Given the description of an element on the screen output the (x, y) to click on. 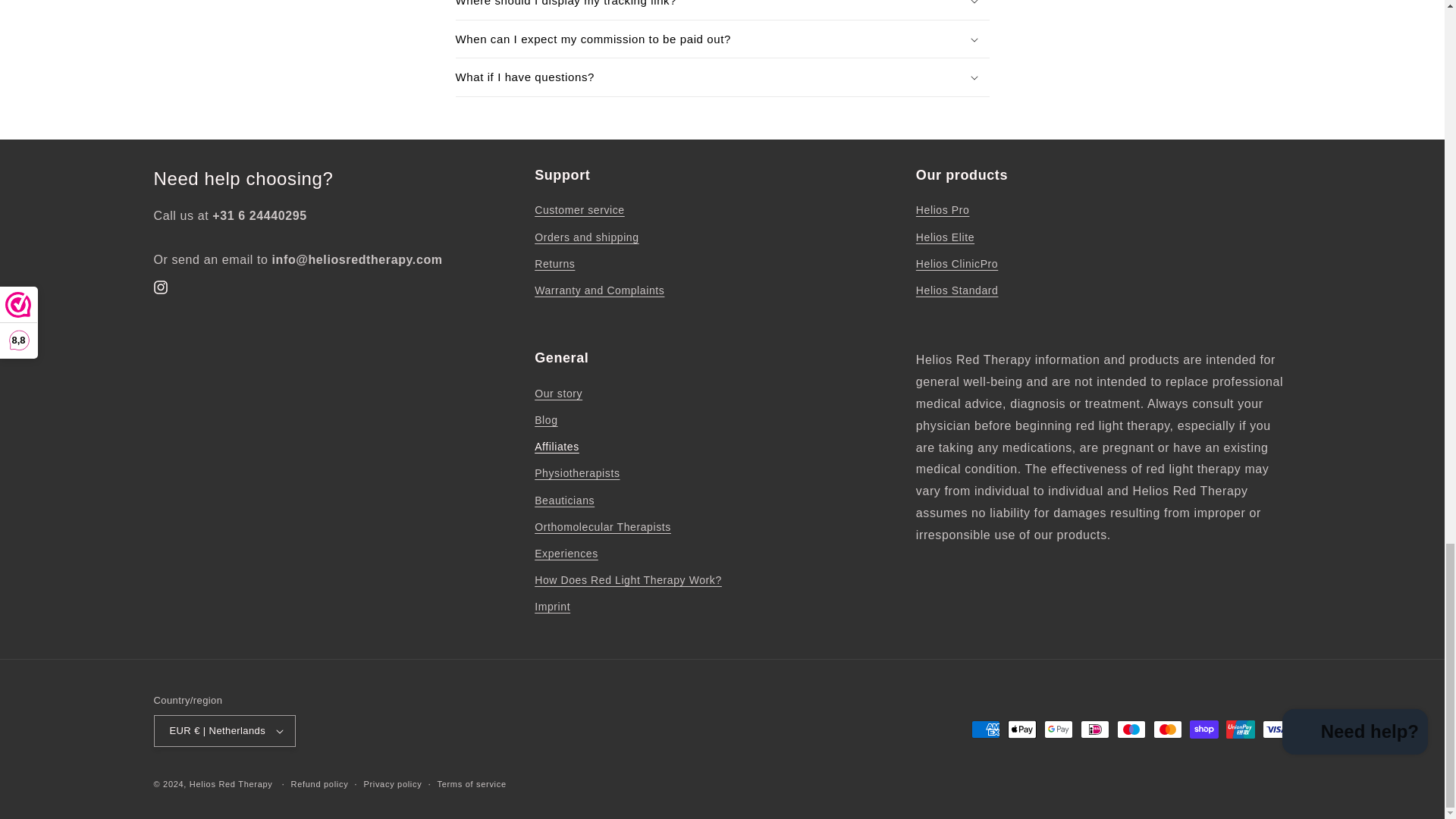
Warranty and Complaints (598, 290)
Returns (554, 263)
Customer service (579, 211)
Instagram (160, 287)
Orders and shipping (586, 237)
